Given the description of an element on the screen output the (x, y) to click on. 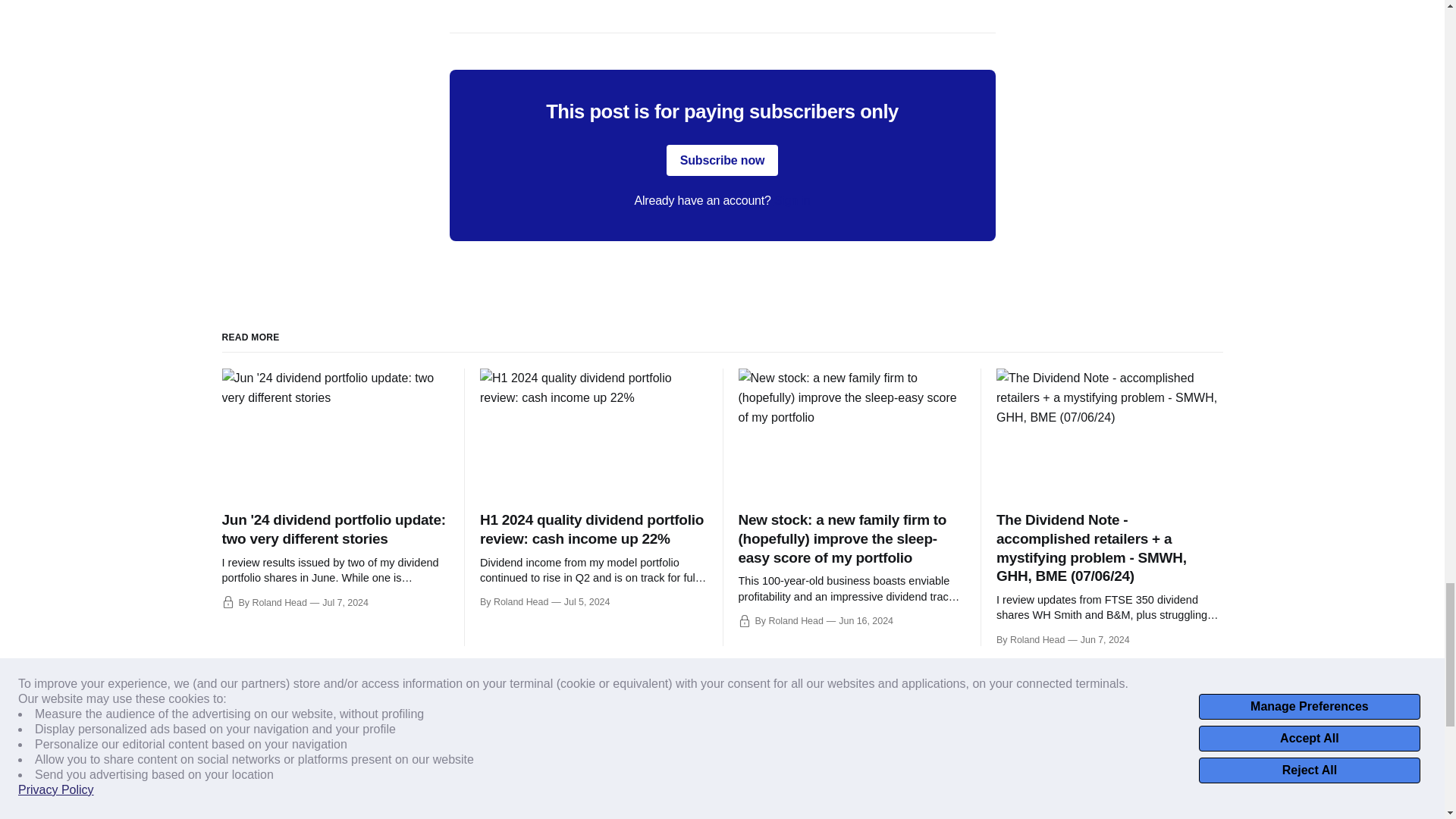
Sign in (792, 200)
Subscribe now (722, 160)
